Given the description of an element on the screen output the (x, y) to click on. 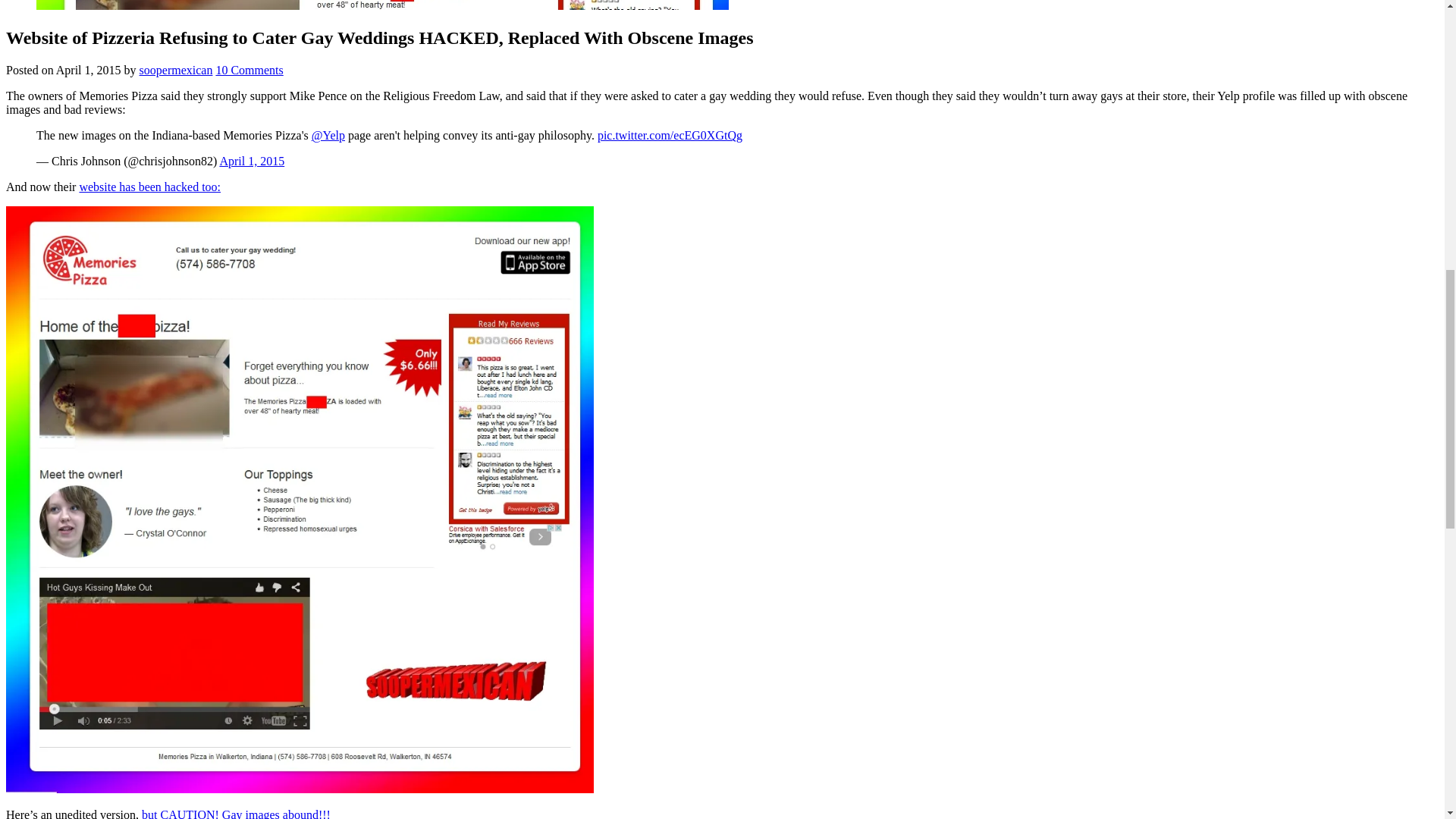
10 Comments (248, 69)
but CAUTION! Gay images abound!!! (235, 813)
website has been hacked too: (149, 186)
soopermexican (175, 69)
April 1, 2015 (251, 160)
